Given the description of an element on the screen output the (x, y) to click on. 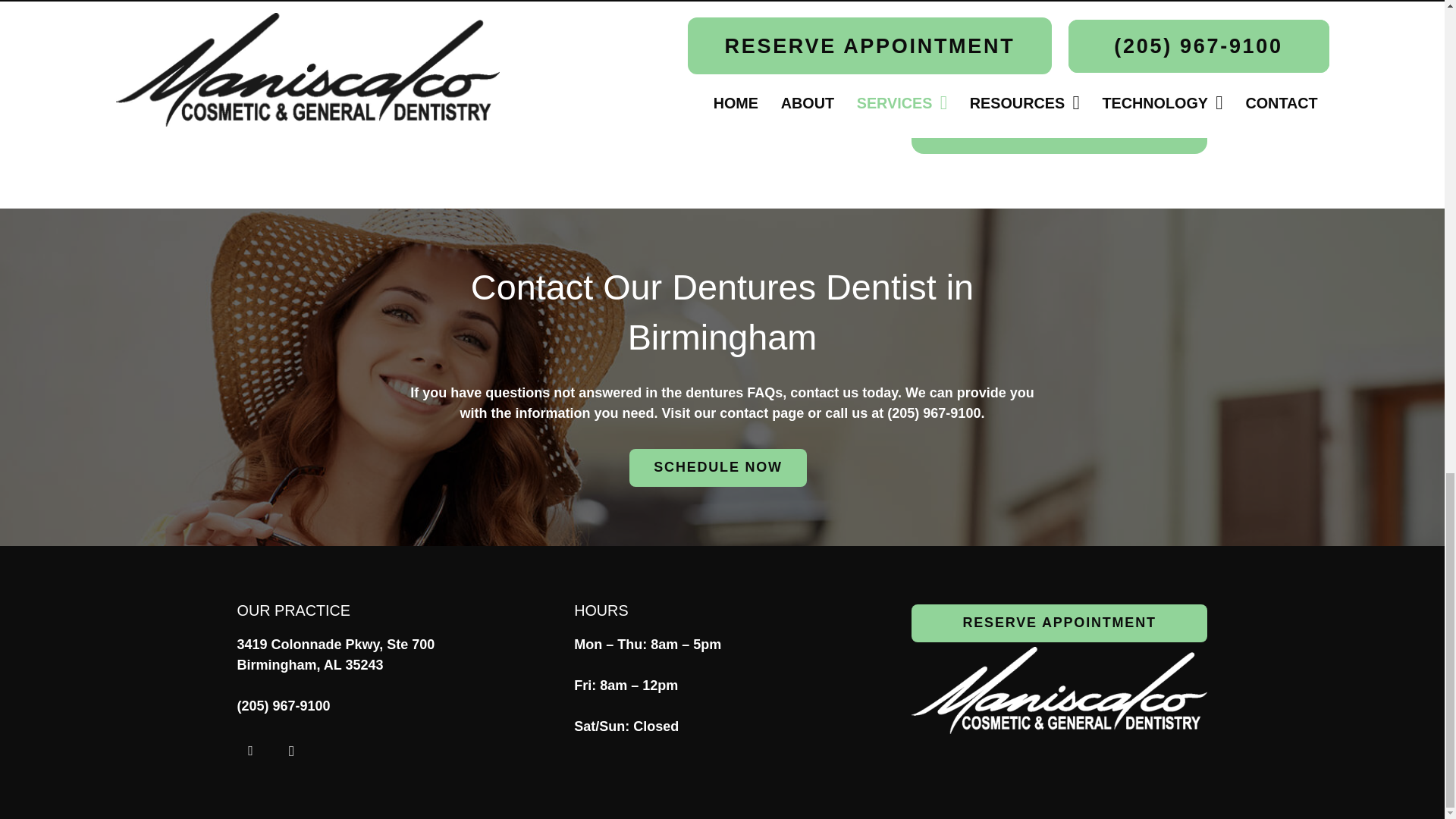
Facebook (249, 750)
Submit (1059, 116)
Request Appointment (1059, 623)
Instagram (291, 750)
Contact (717, 467)
